Given the description of an element on the screen output the (x, y) to click on. 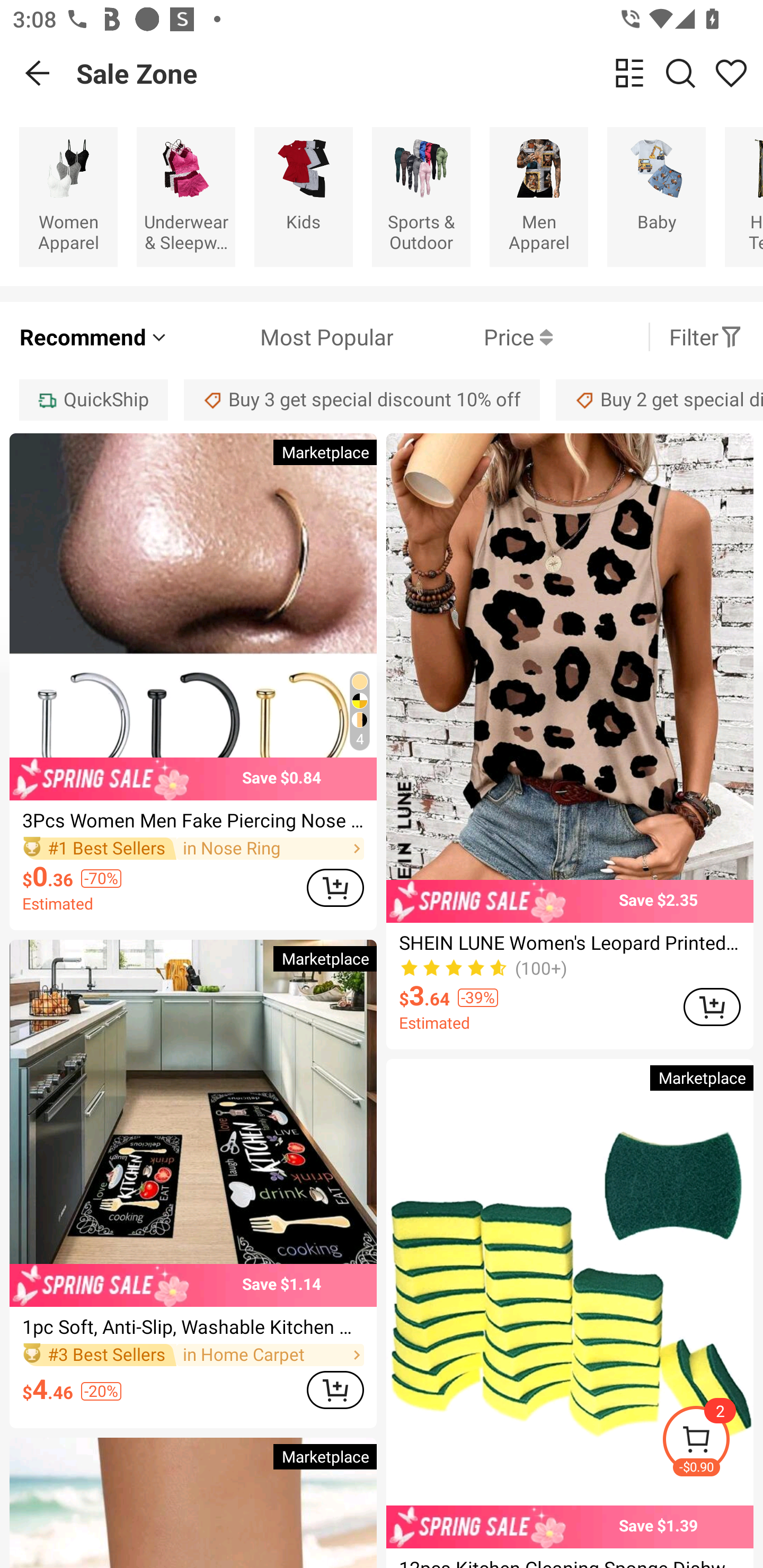
Sale Zone change view Search Share (419, 72)
change view (629, 72)
Search (679, 72)
Share (730, 72)
Women Apparel (68, 196)
Underwear & Sleepwear (185, 196)
Kids (303, 196)
Sports & Outdoor (421, 196)
Men Apparel (538, 196)
Baby (656, 196)
Recommend (94, 336)
Most Popular (280, 336)
Price (472, 336)
Filter (705, 336)
QuickShip (93, 399)
Buy 3 get special discount 10% off (361, 399)
#1 Best Sellers in Nose Ring (192, 847)
ADD TO CART (334, 887)
ADD TO CART (711, 1006)
#3 Best Sellers in Home Carpet (192, 1354)
ADD TO CART (334, 1389)
-$0.90 (712, 1441)
